Given the description of an element on the screen output the (x, y) to click on. 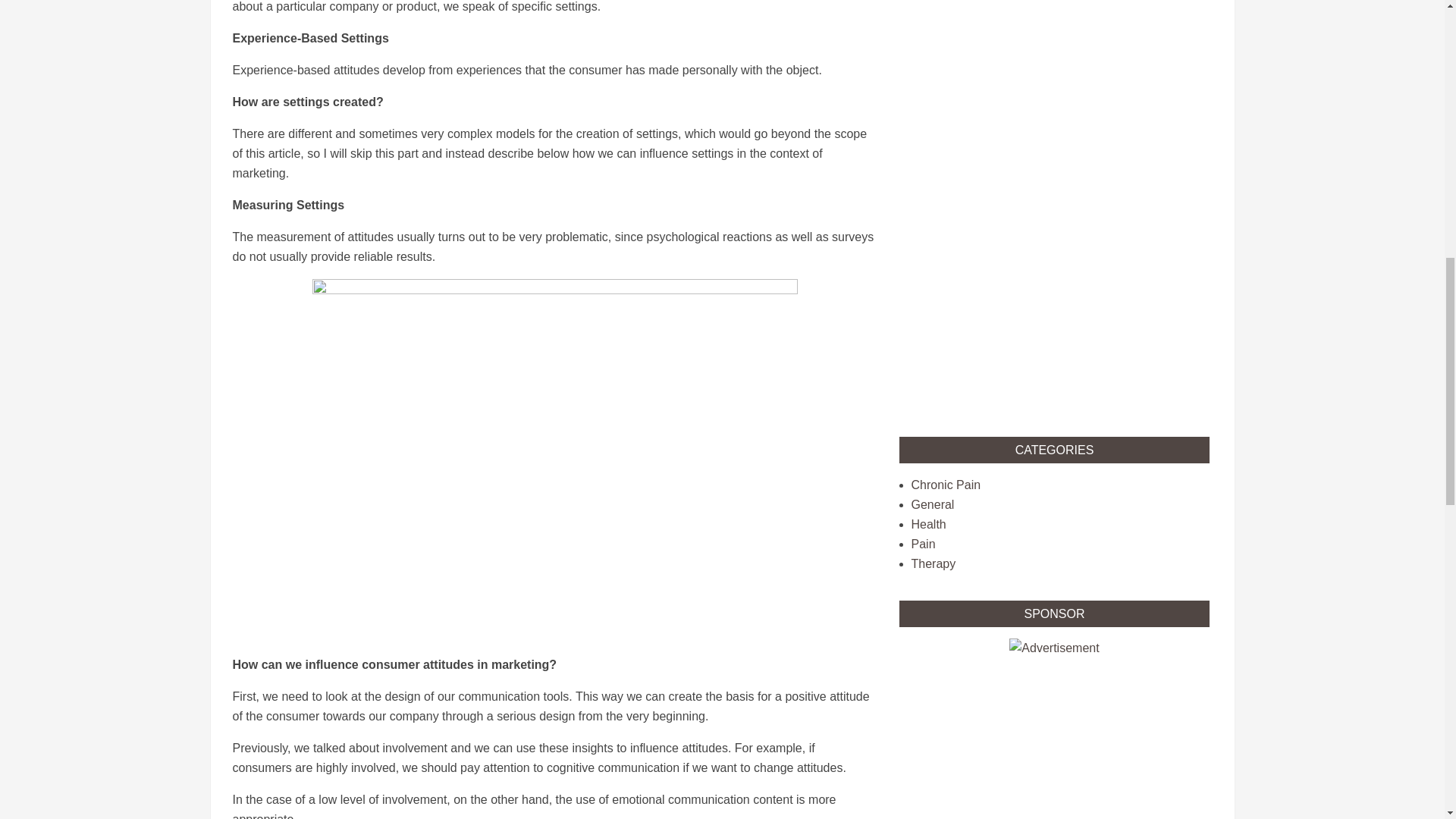
General (933, 504)
Therapy (933, 563)
Pain (923, 543)
Health (928, 523)
Chronic Pain (946, 484)
